Given the description of an element on the screen output the (x, y) to click on. 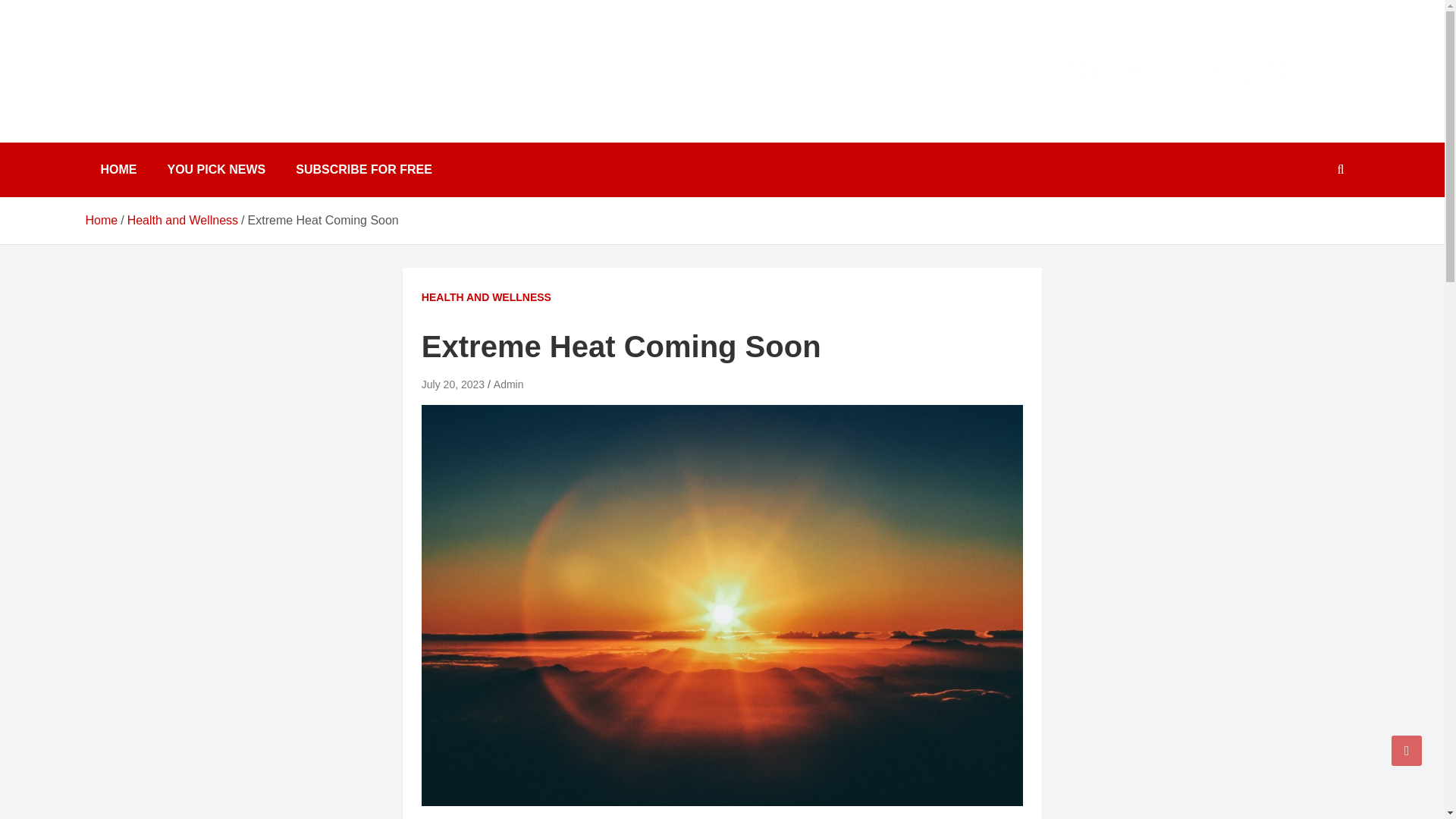
Health and Wellness (183, 219)
July 20, 2023 (453, 384)
HEALTH AND WELLNESS (486, 296)
Go to Top (1406, 750)
cupventi.com (182, 94)
Home (100, 219)
HOME (117, 169)
SUBSCRIBE FOR FREE (363, 169)
Admin (508, 384)
YOU PICK NEWS (216, 169)
